Given the description of an element on the screen output the (x, y) to click on. 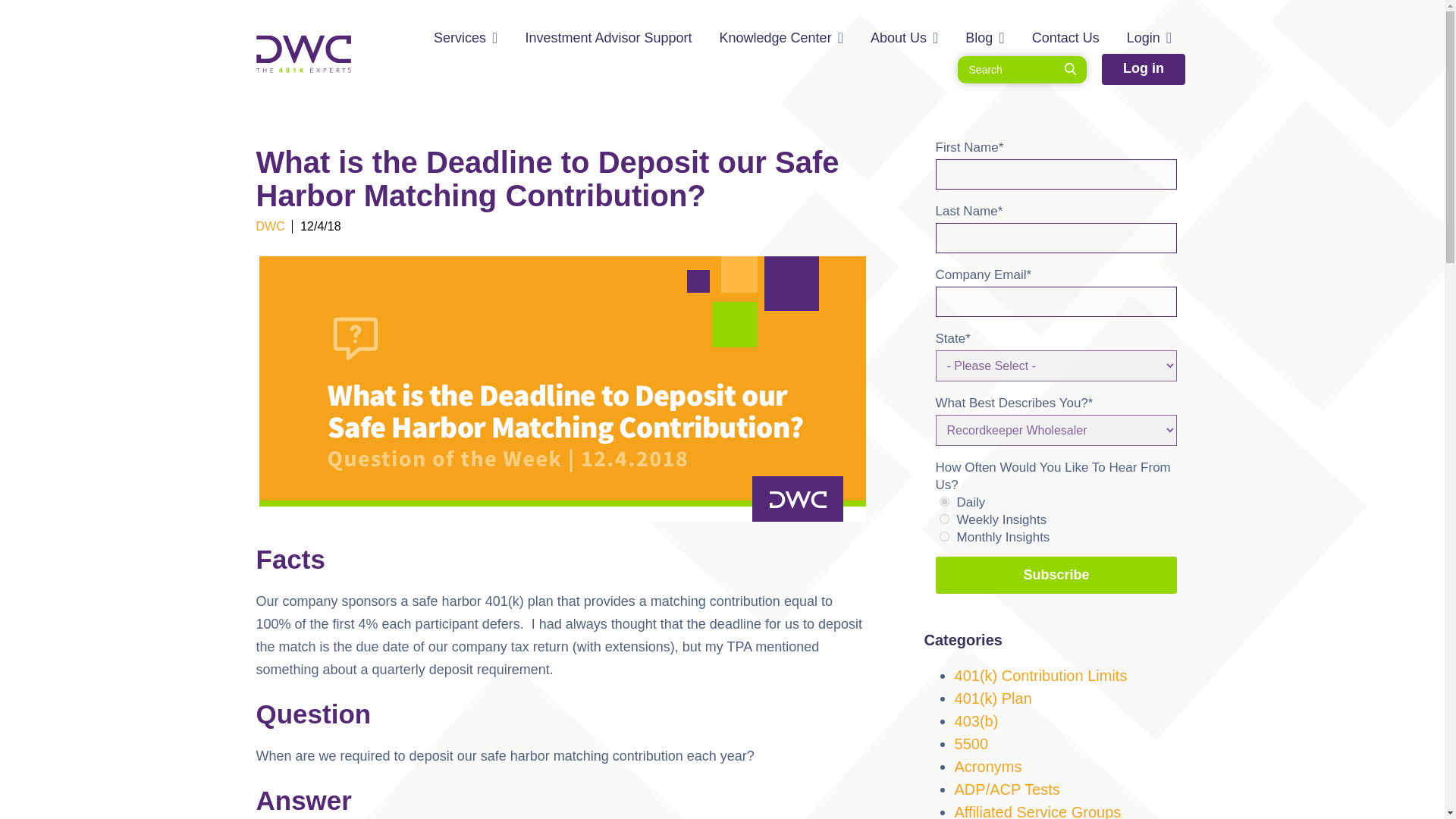
instant (944, 501)
Services (459, 38)
Log in (1143, 69)
Investment Advisor Support (607, 38)
monthly (944, 536)
Subscribe (1056, 574)
Knowledge Center (775, 38)
logo (303, 53)
Contact Us (1065, 38)
weekly (944, 519)
Login (1143, 38)
Log in (1143, 69)
About Us (898, 38)
